Given the description of an element on the screen output the (x, y) to click on. 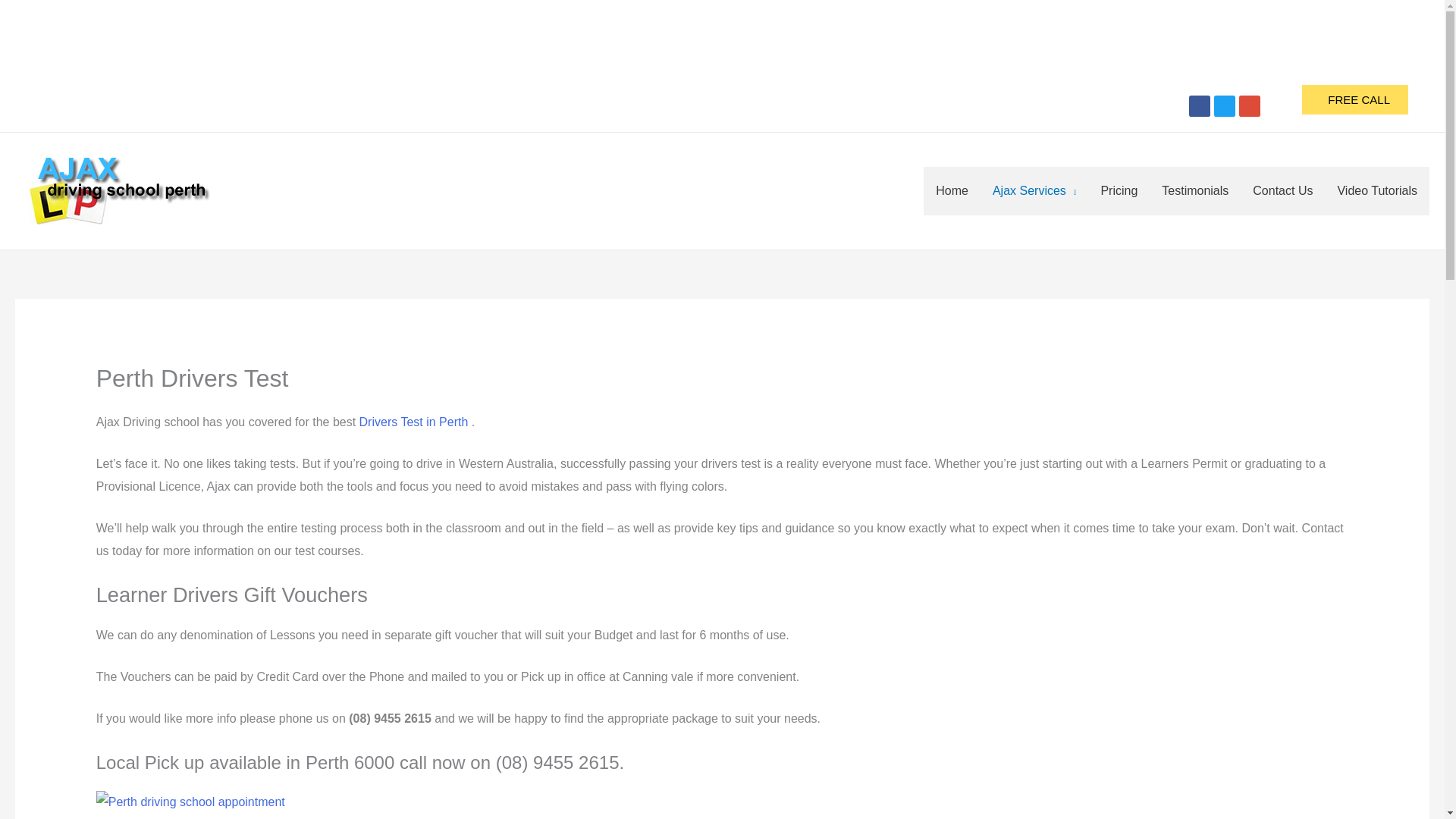
Home (951, 191)
FREE CALL (1354, 99)
Pricing (1118, 191)
Video Tutorials (1376, 191)
Contact Us (1282, 191)
Drivers Test in Perth (413, 421)
Testimonials (1195, 191)
Ajax Services (1033, 191)
